Given the description of an element on the screen output the (x, y) to click on. 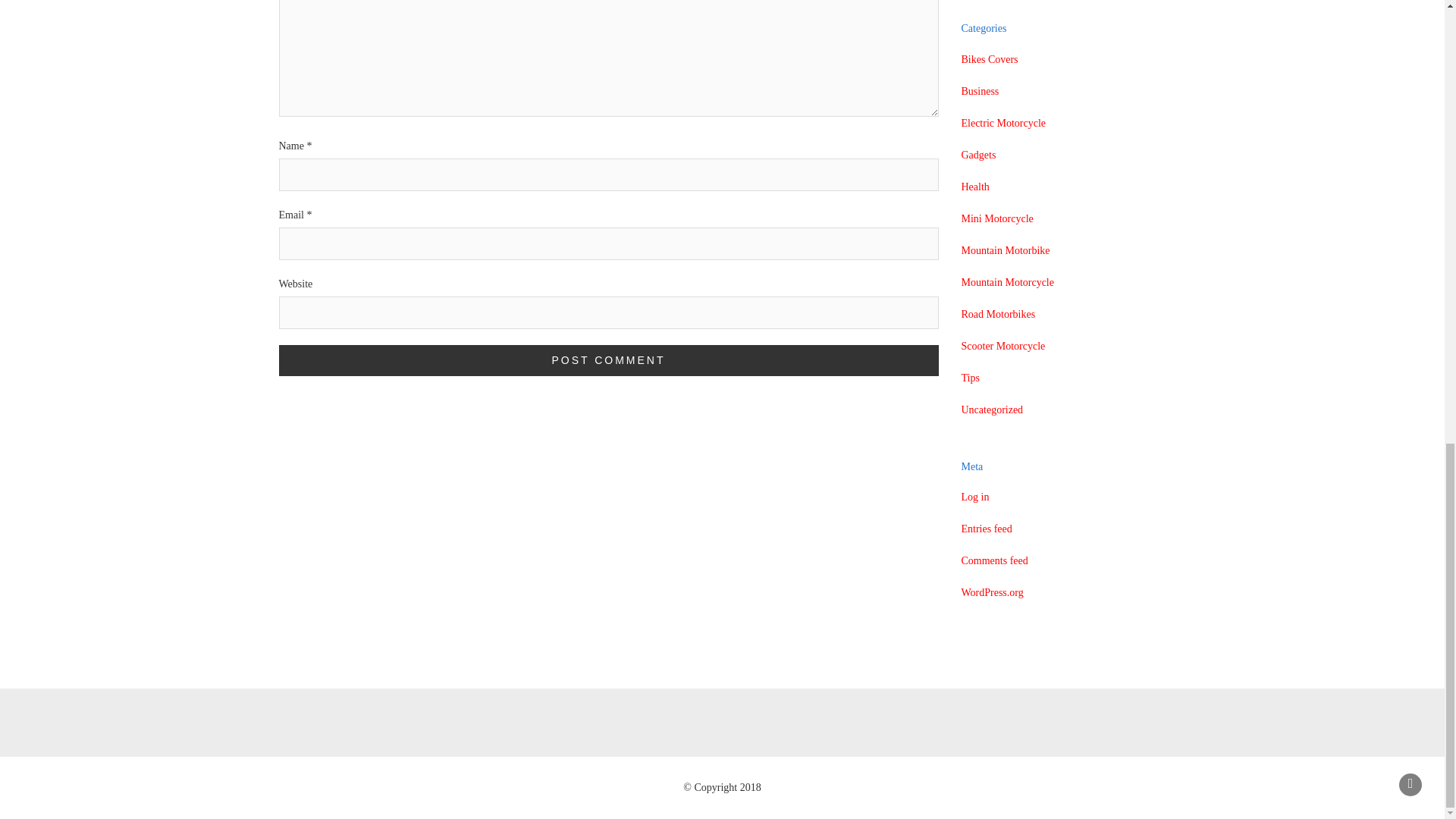
Bikes Covers (988, 59)
Mountain Motorbike (1004, 250)
Business (979, 91)
Road Motorbikes (997, 314)
Electric Motorcycle (1003, 123)
Gadgets (977, 155)
Mini Motorcycle (996, 218)
Health (975, 187)
Post Comment (609, 359)
Mountain Motorcycle (1007, 282)
